Given the description of an element on the screen output the (x, y) to click on. 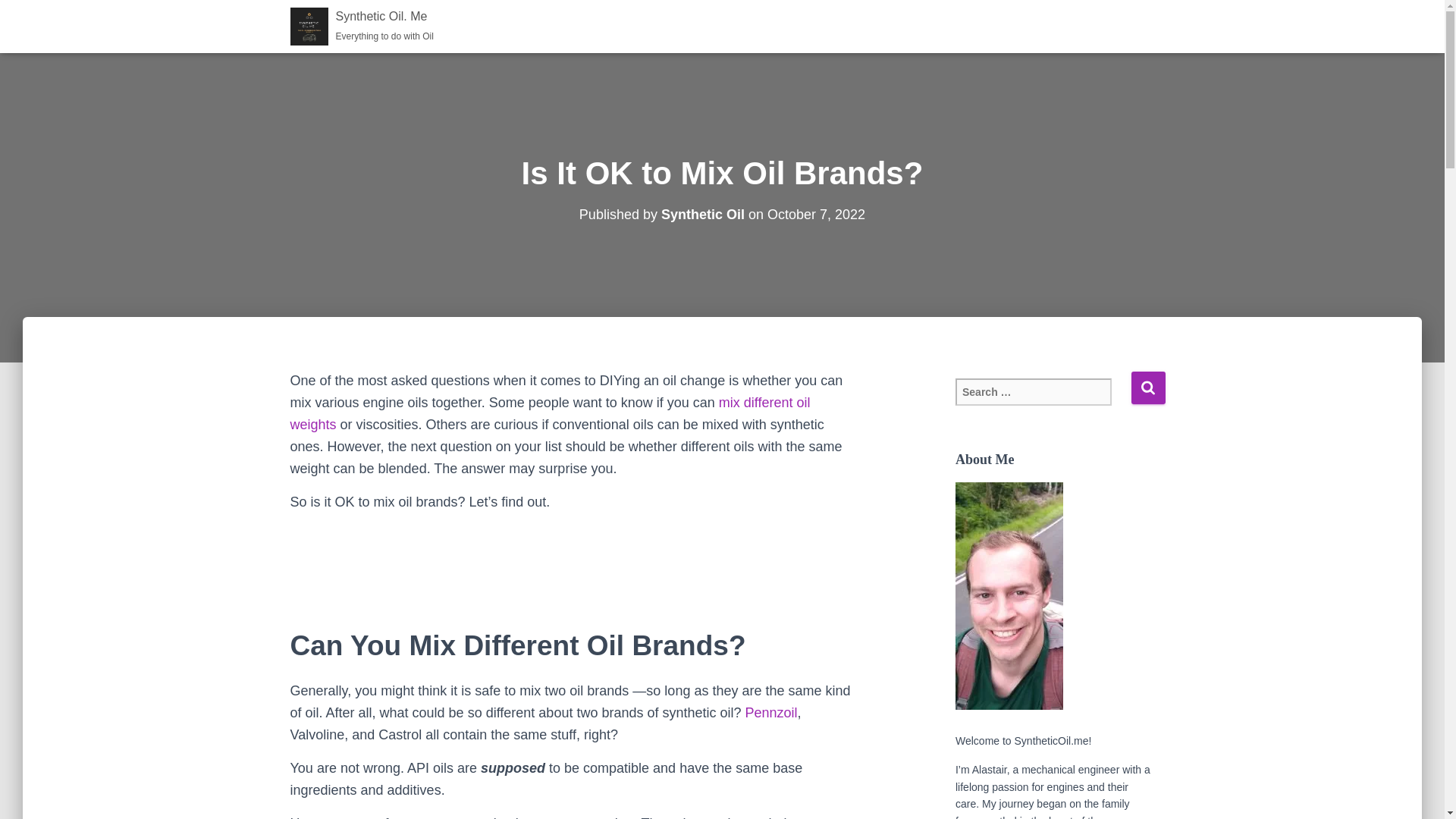
Search (1148, 387)
Synthetic Oil. Me (362, 26)
Pennzoil (362, 26)
Synthetic Oil (771, 712)
Search (702, 214)
mix different oil weights (1148, 387)
Search (549, 413)
